Given the description of an element on the screen output the (x, y) to click on. 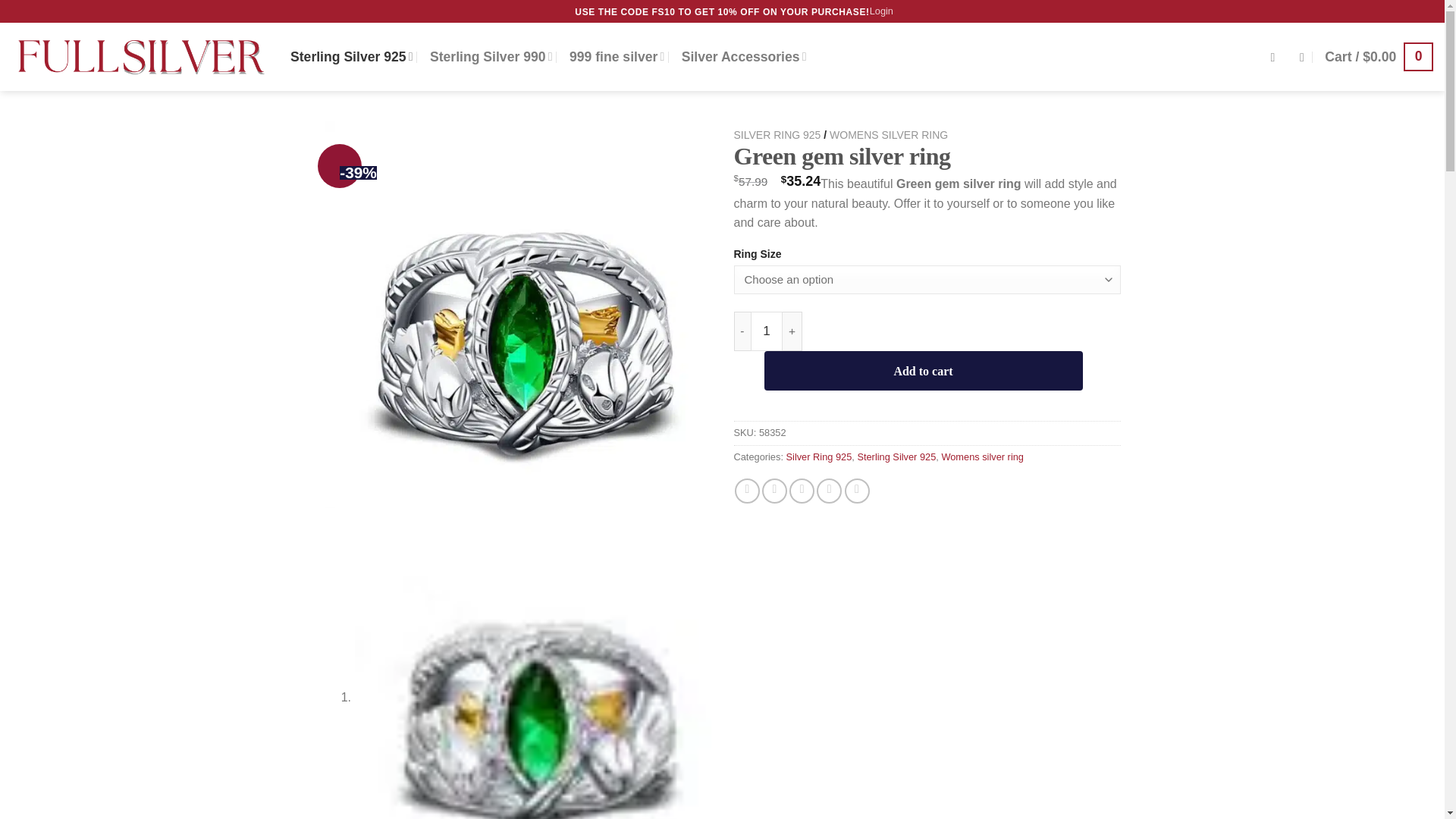
Sterling Silver 990 (491, 56)
Share on Twitter (774, 490)
FULL-SILVER - silver shop (139, 56)
Sterling Silver 925 (351, 56)
Login (881, 11)
Login (881, 11)
Silver Accessories (743, 56)
Share on Facebook (747, 490)
999 fine silver (616, 56)
Pin on Pinterest (828, 490)
Cart (1378, 56)
Share on LinkedIn (856, 490)
Email to a Friend (801, 490)
